Given the description of an element on the screen output the (x, y) to click on. 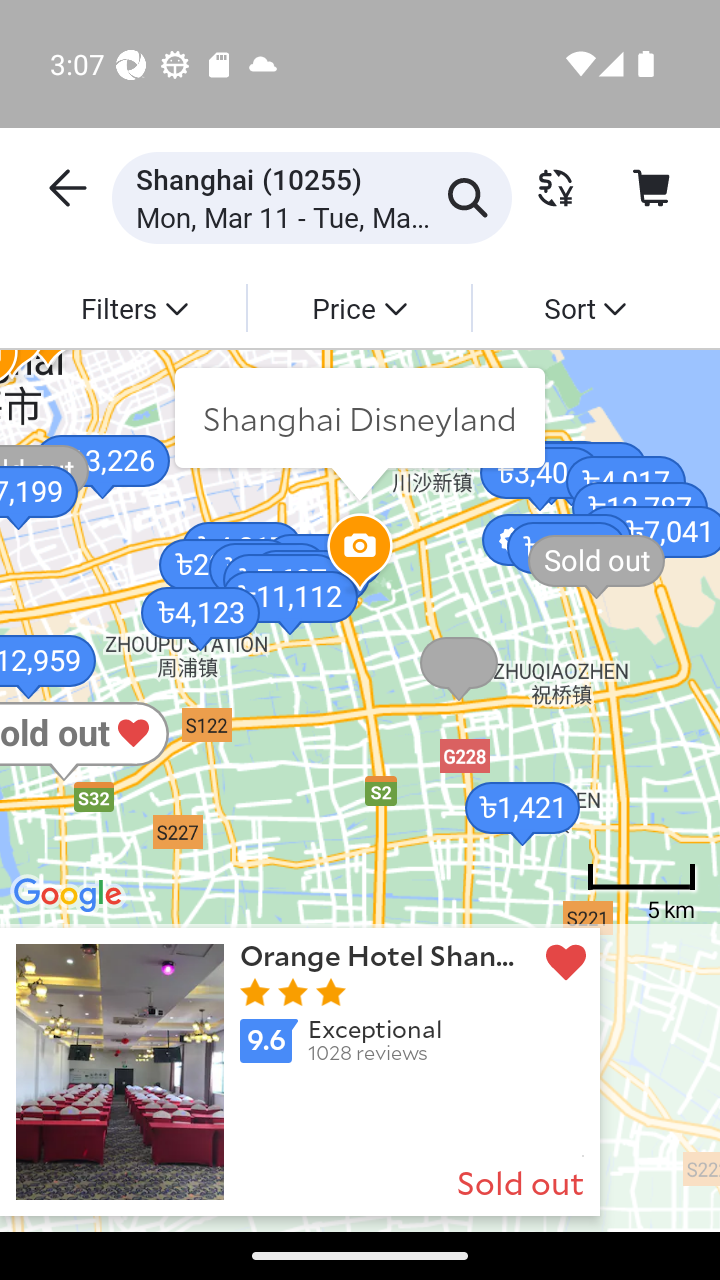
Filters (134, 307)
Price (358, 307)
Sort (584, 307)
